Given the description of an element on the screen output the (x, y) to click on. 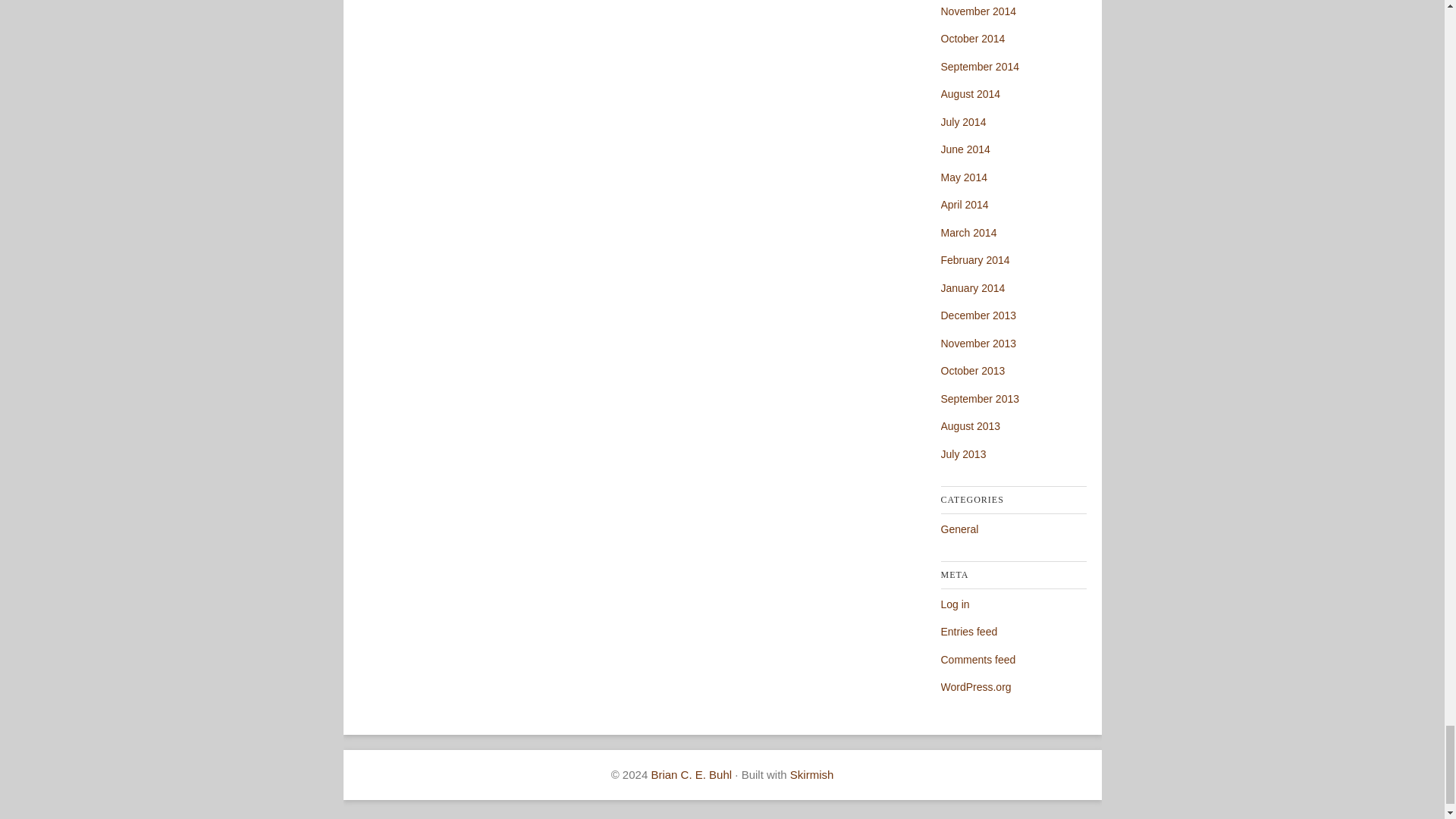
Brian C. E. Buhl (691, 774)
